Given the description of an element on the screen output the (x, y) to click on. 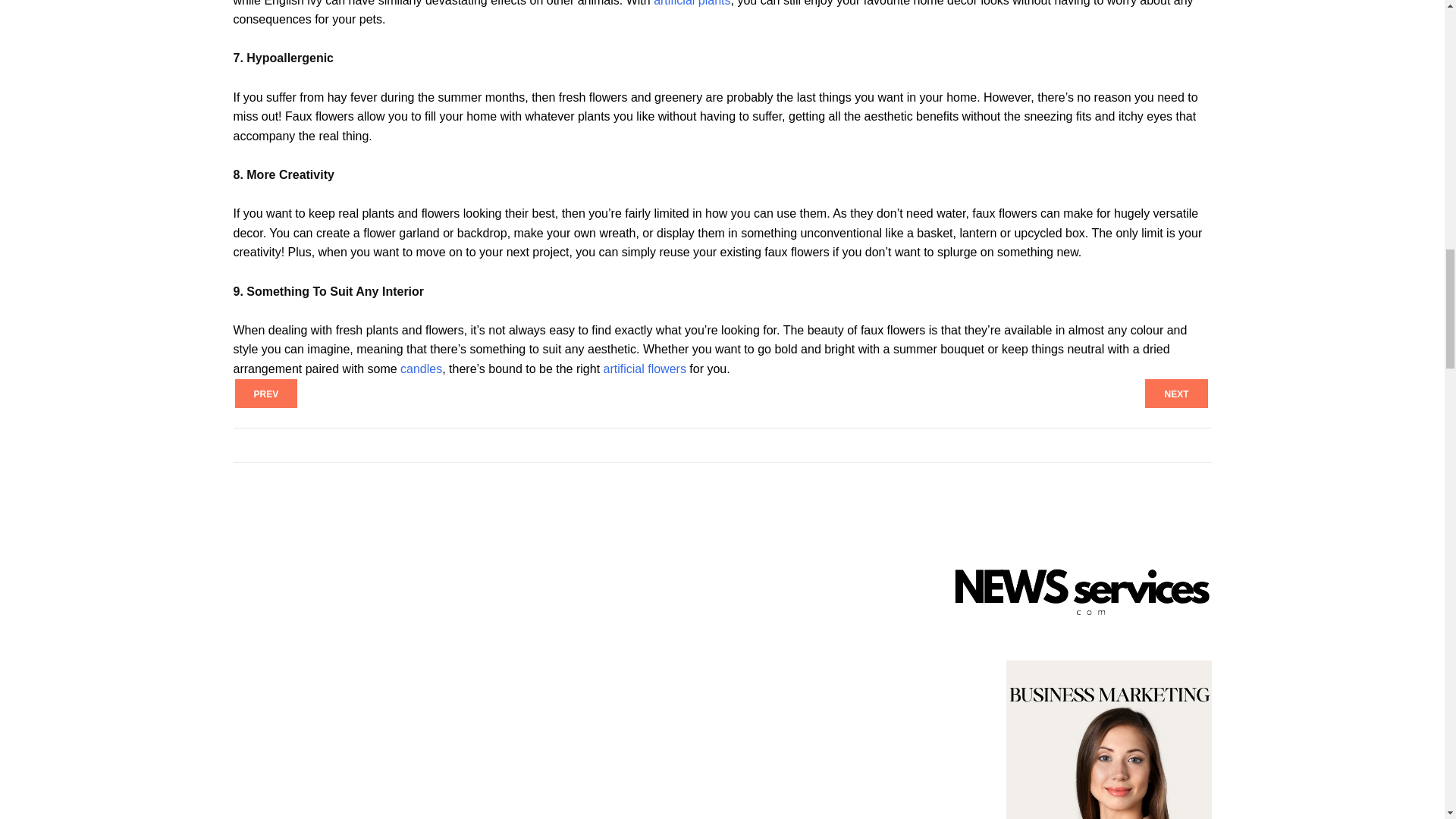
NEXT (1175, 393)
artificial flowers (644, 368)
PREV (266, 393)
candles (421, 368)
artificial plants (691, 3)
